Given the description of an element on the screen output the (x, y) to click on. 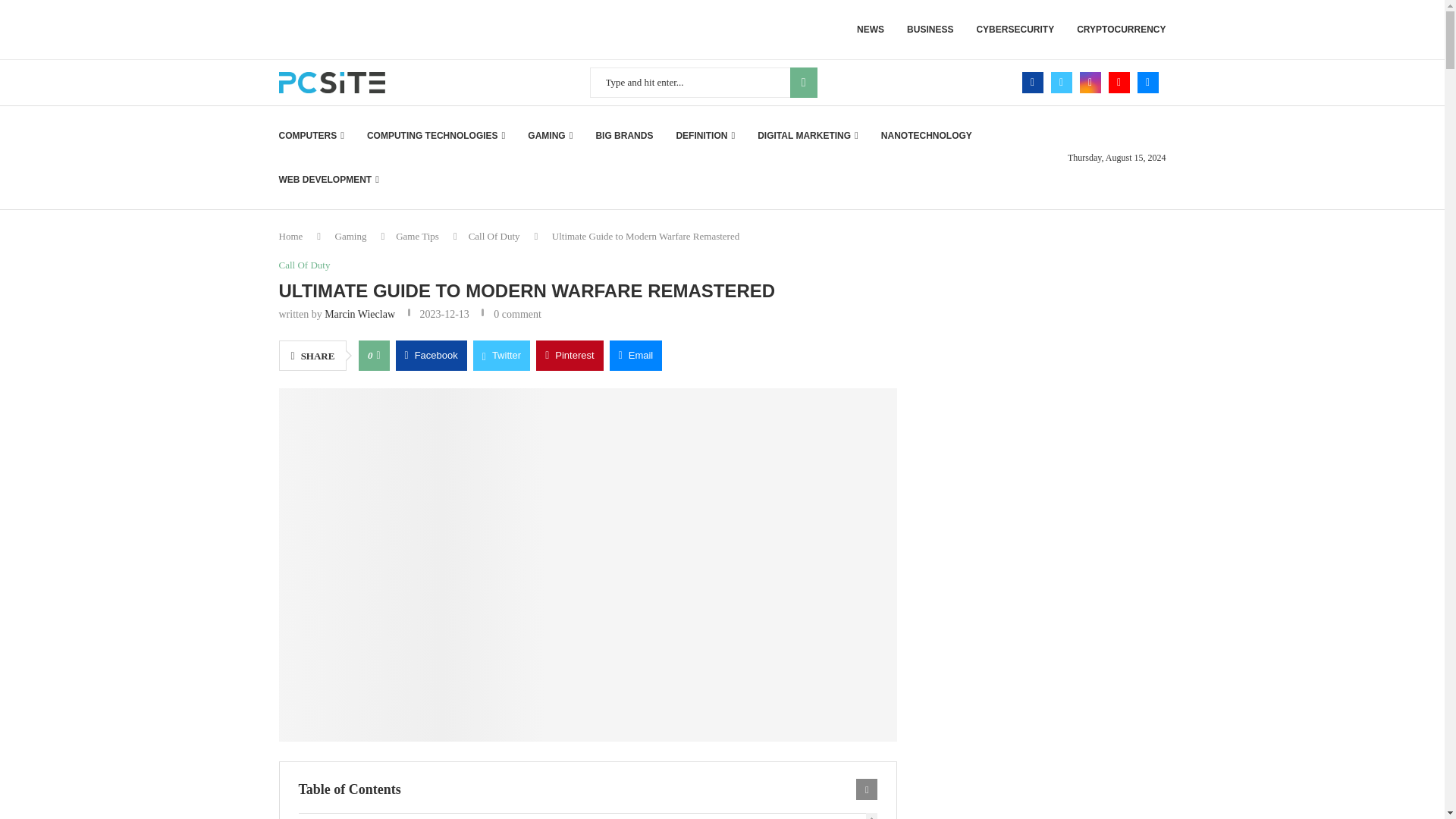
Marcin Wieclaw (359, 314)
